Given the description of an element on the screen output the (x, y) to click on. 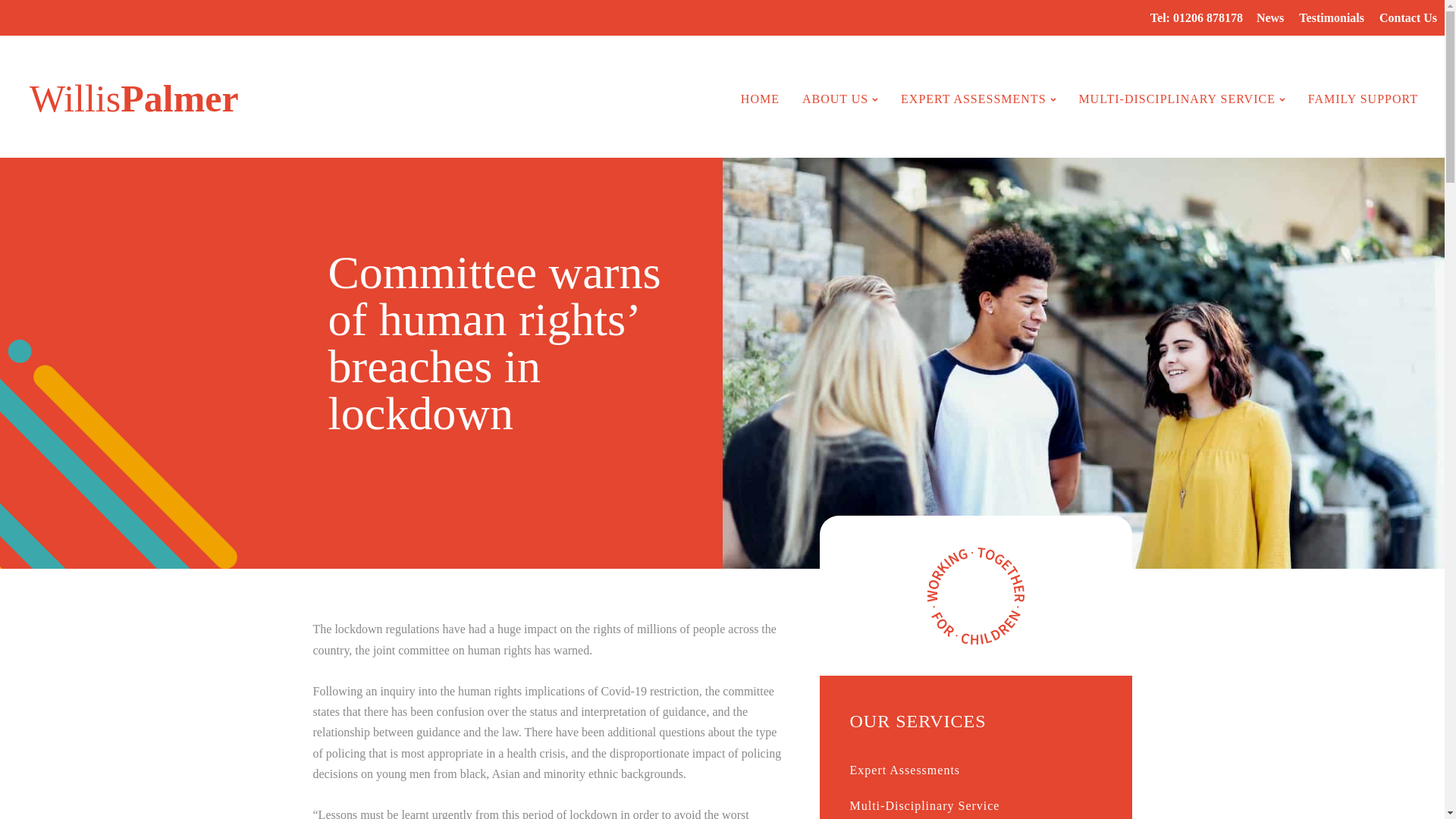
01206 878178 (1208, 17)
News (1270, 18)
HOME (759, 98)
Multi-Disciplinary Service (974, 803)
MULTI-DISCIPLINARY SERVICE (1181, 98)
EXPERT ASSESSMENTS (978, 98)
ABOUT US (839, 98)
Expert Assessments (974, 769)
Testimonials (126, 98)
FAMILY SUPPORT (1331, 18)
